Given the description of an element on the screen output the (x, y) to click on. 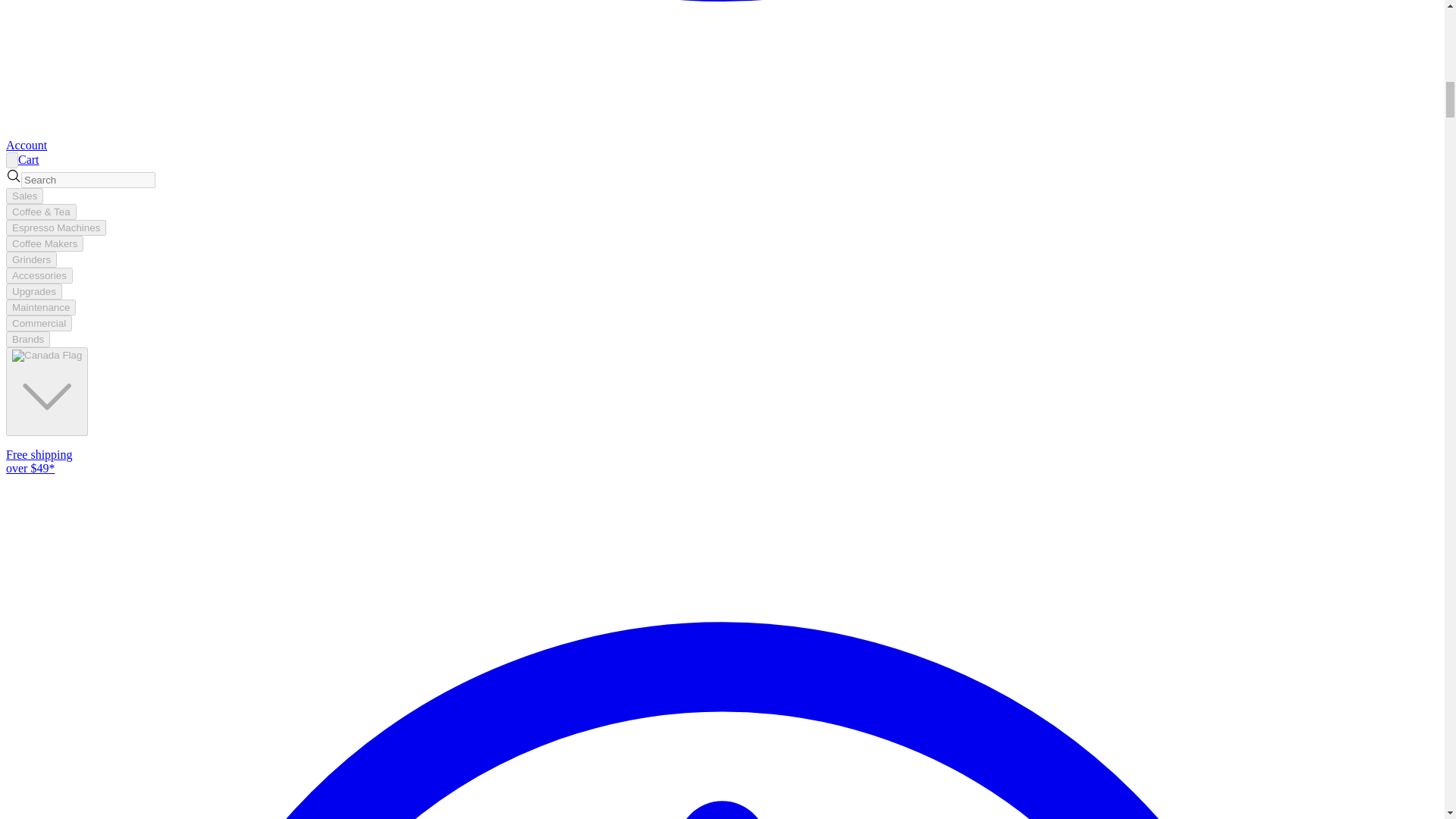
Cart (28, 159)
Upgrades (33, 291)
Accessories (38, 275)
Sales (24, 195)
Espresso Machines (55, 227)
Maintenance (40, 307)
Account (25, 144)
Brands (27, 339)
Grinders (30, 259)
Coffee Makers (43, 243)
Commercial (38, 323)
